Given the description of an element on the screen output the (x, y) to click on. 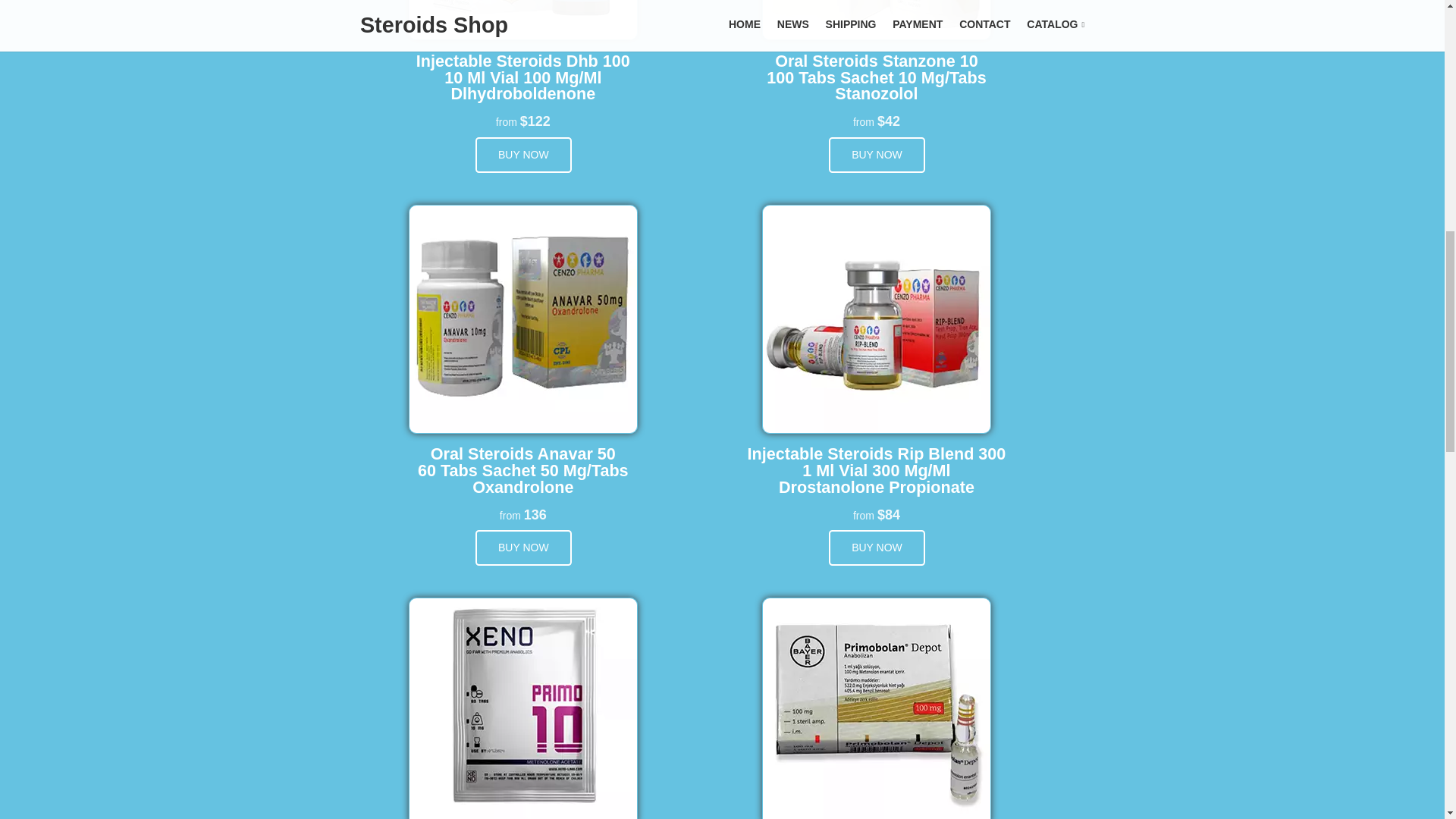
BUY NOW (524, 154)
BUY NOW (876, 547)
BUY NOW (524, 547)
BUY NOW (876, 154)
